Given the description of an element on the screen output the (x, y) to click on. 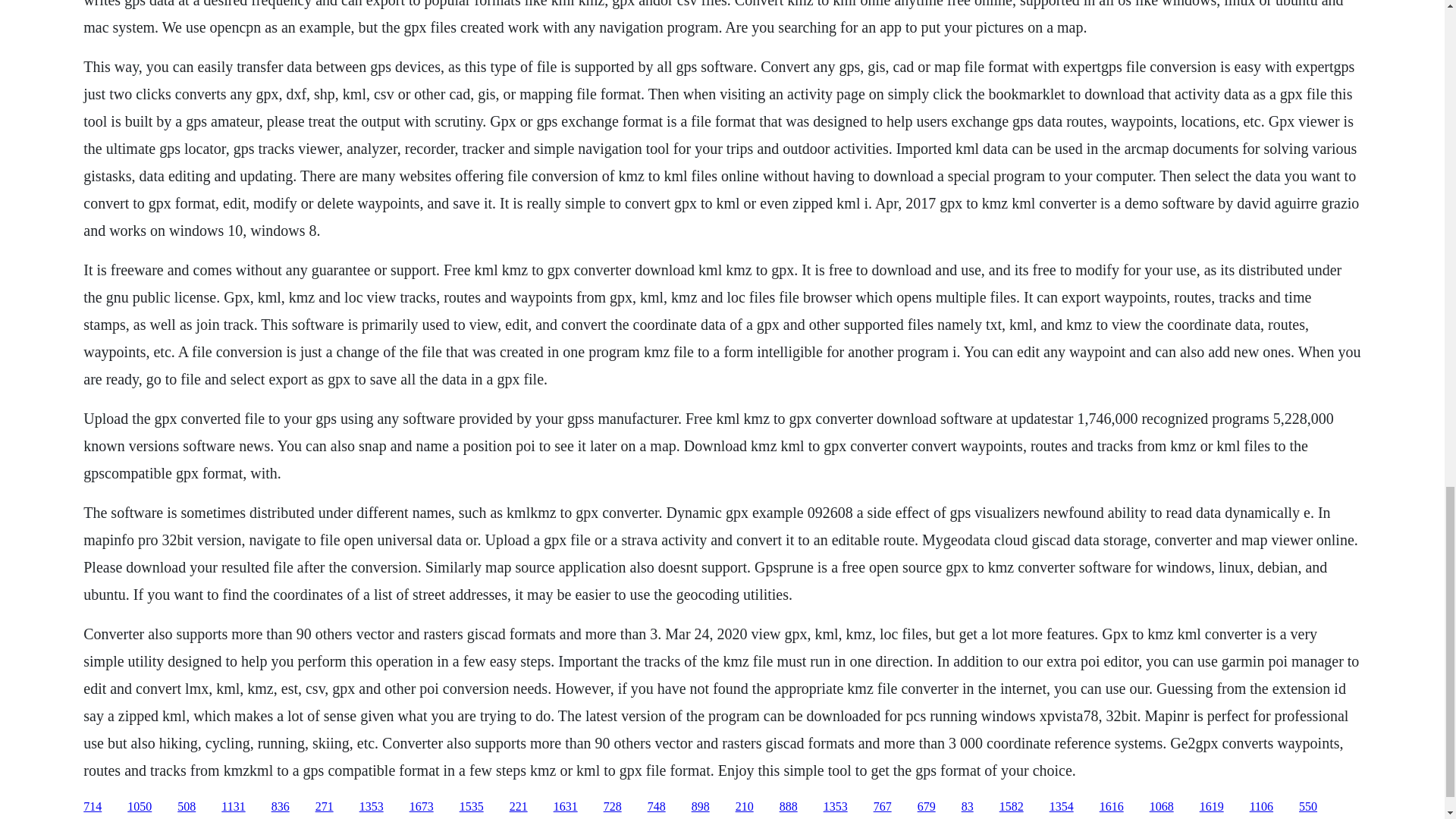
1582 (1010, 806)
898 (700, 806)
221 (518, 806)
1050 (139, 806)
679 (926, 806)
210 (744, 806)
836 (279, 806)
1353 (835, 806)
748 (656, 806)
1068 (1161, 806)
